Given the description of an element on the screen output the (x, y) to click on. 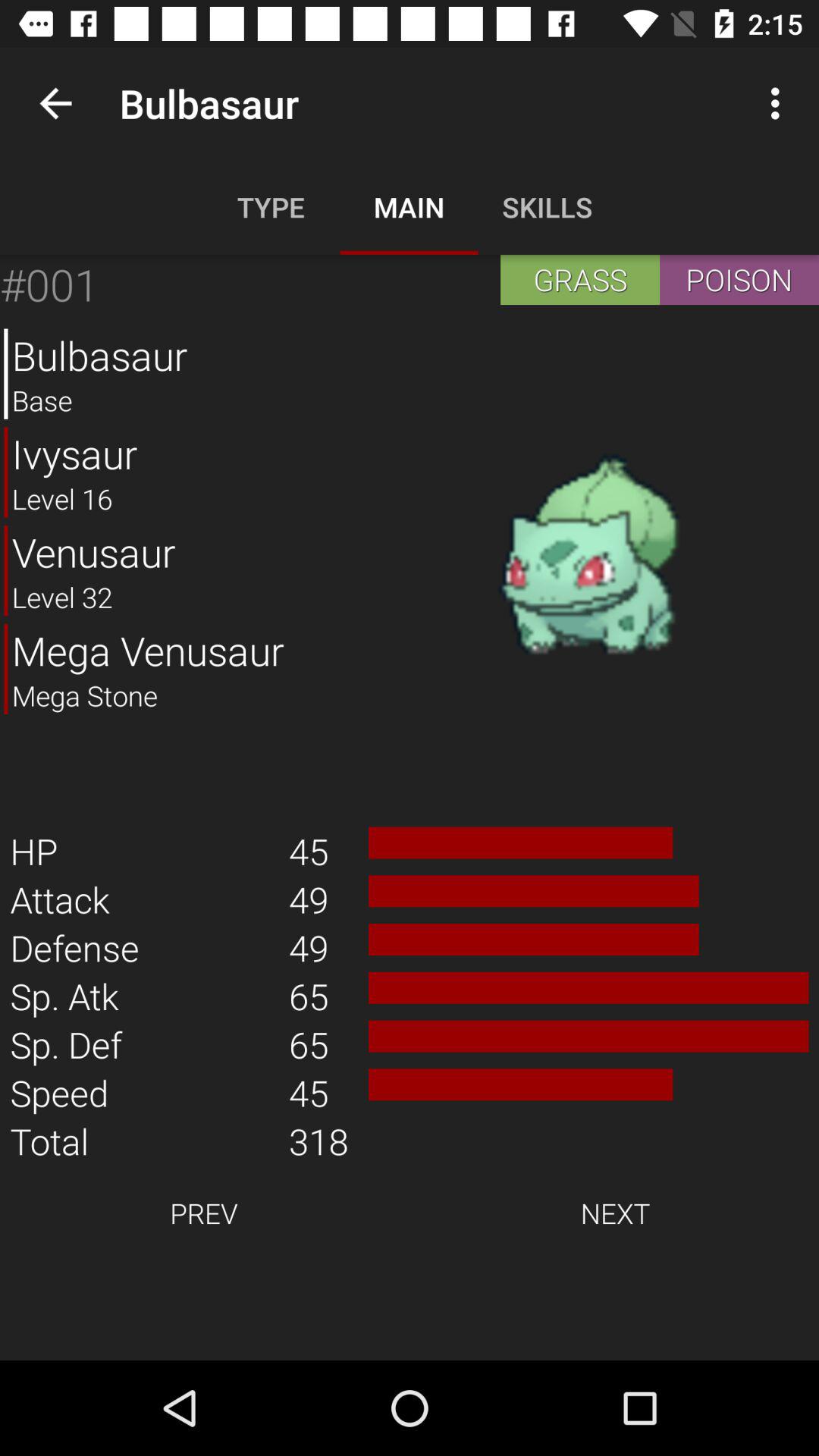
press icon below total (203, 1212)
